Given the description of an element on the screen output the (x, y) to click on. 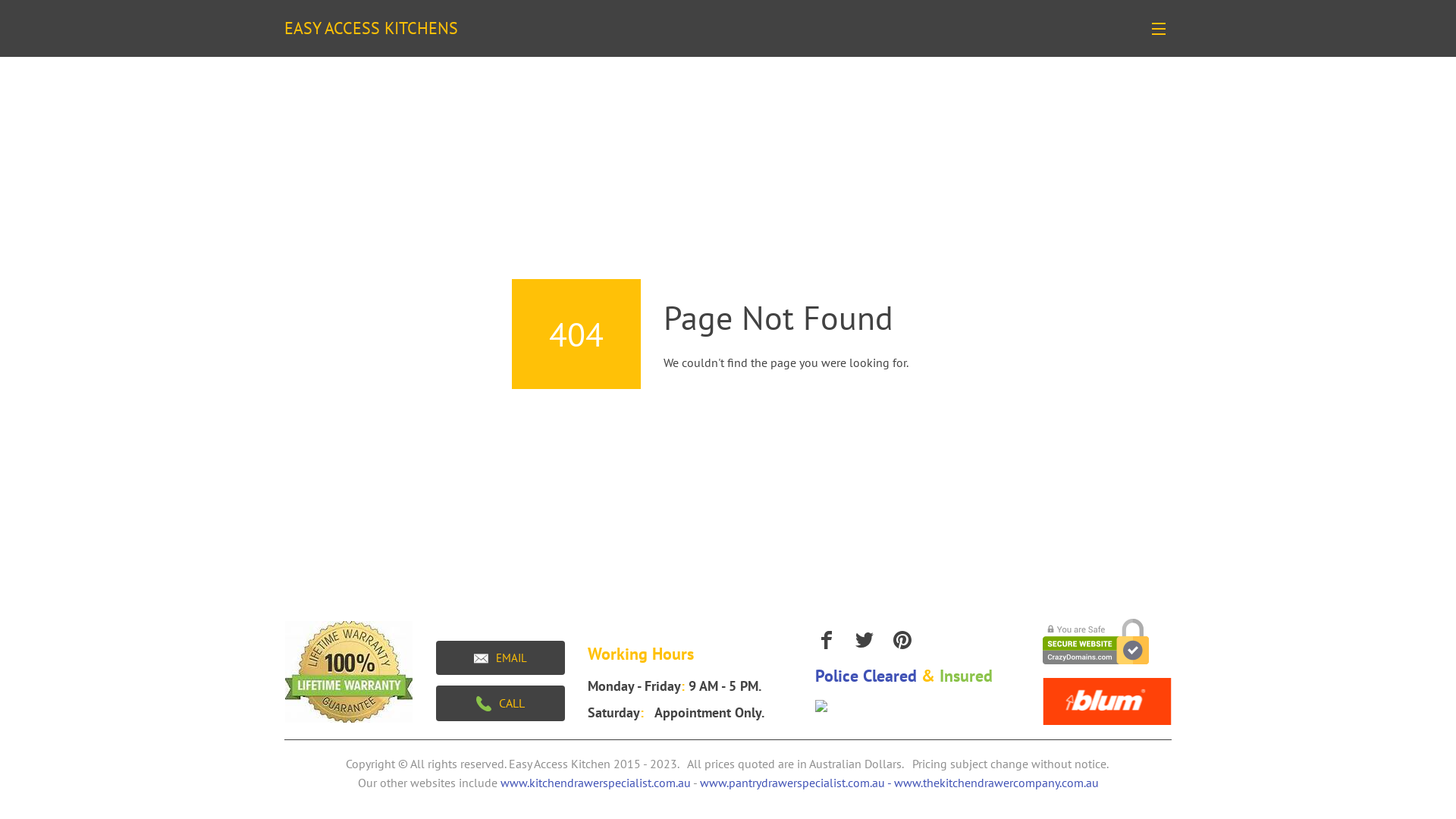
www.kitchendrawerspecialist.com.au Element type: text (595, 782)
Blum Logo Element type: hover (1107, 700)
EMAIL Element type: text (500, 657)
EASY ACCESS KITCHENS Element type: text (378, 27)
www.thekitchendrawercompany.com.au Element type: text (995, 782)
CALL Element type: text (500, 703)
www.pantrydrawerspecialist.com.au - Element type: text (796, 782)
life time warranty logo Element type: hover (348, 671)
